Given the description of an element on the screen output the (x, y) to click on. 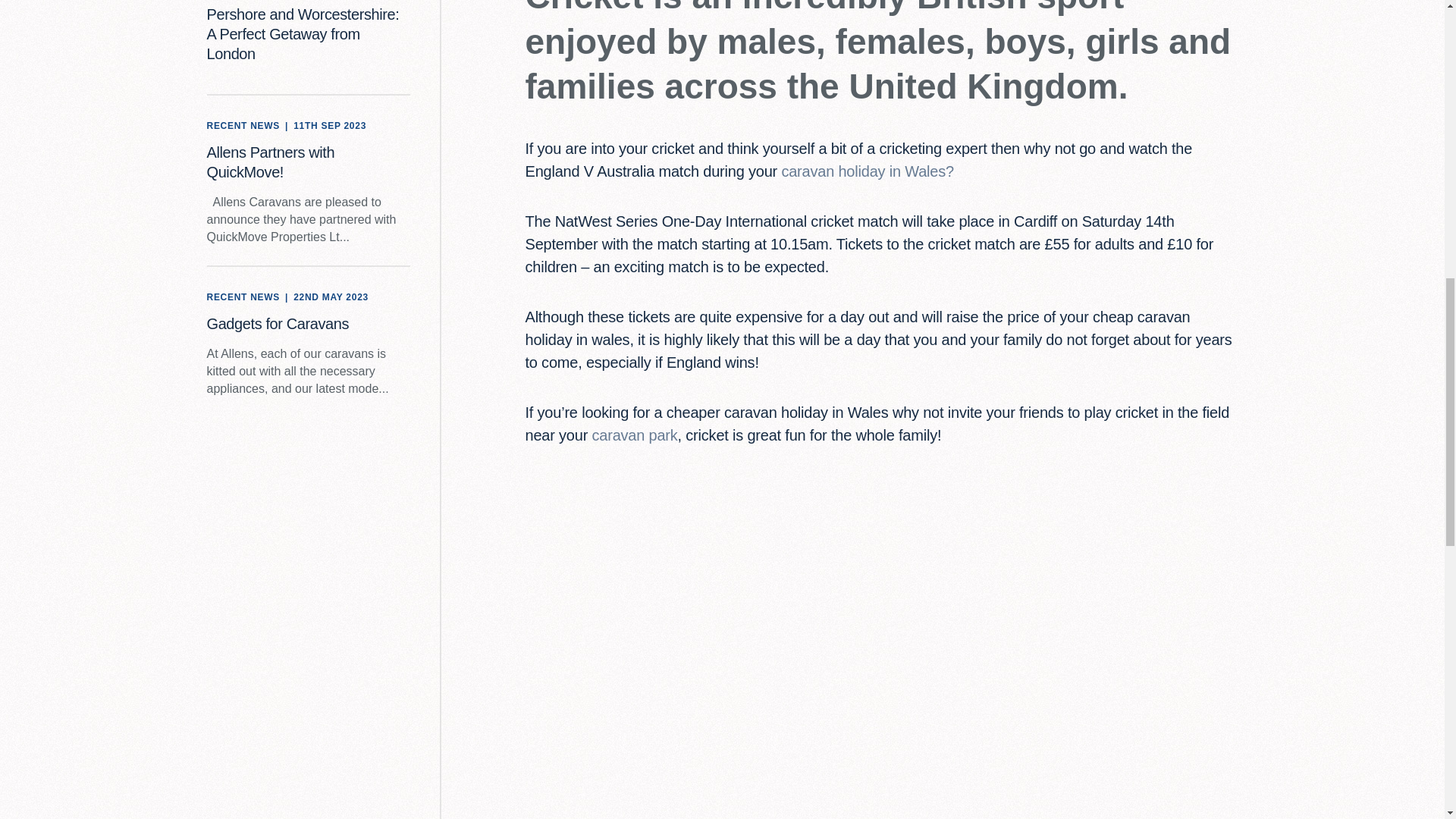
RECENT NEWS (242, 297)
caravan park (634, 434)
caravan holiday in Wales? (866, 170)
Gadgets for Caravans (277, 323)
RECENT NEWS (242, 126)
Allens Partners with QuickMove! (270, 162)
Pershore and Worcestershire: A Perfect Getaway from London (302, 33)
